Given the description of an element on the screen output the (x, y) to click on. 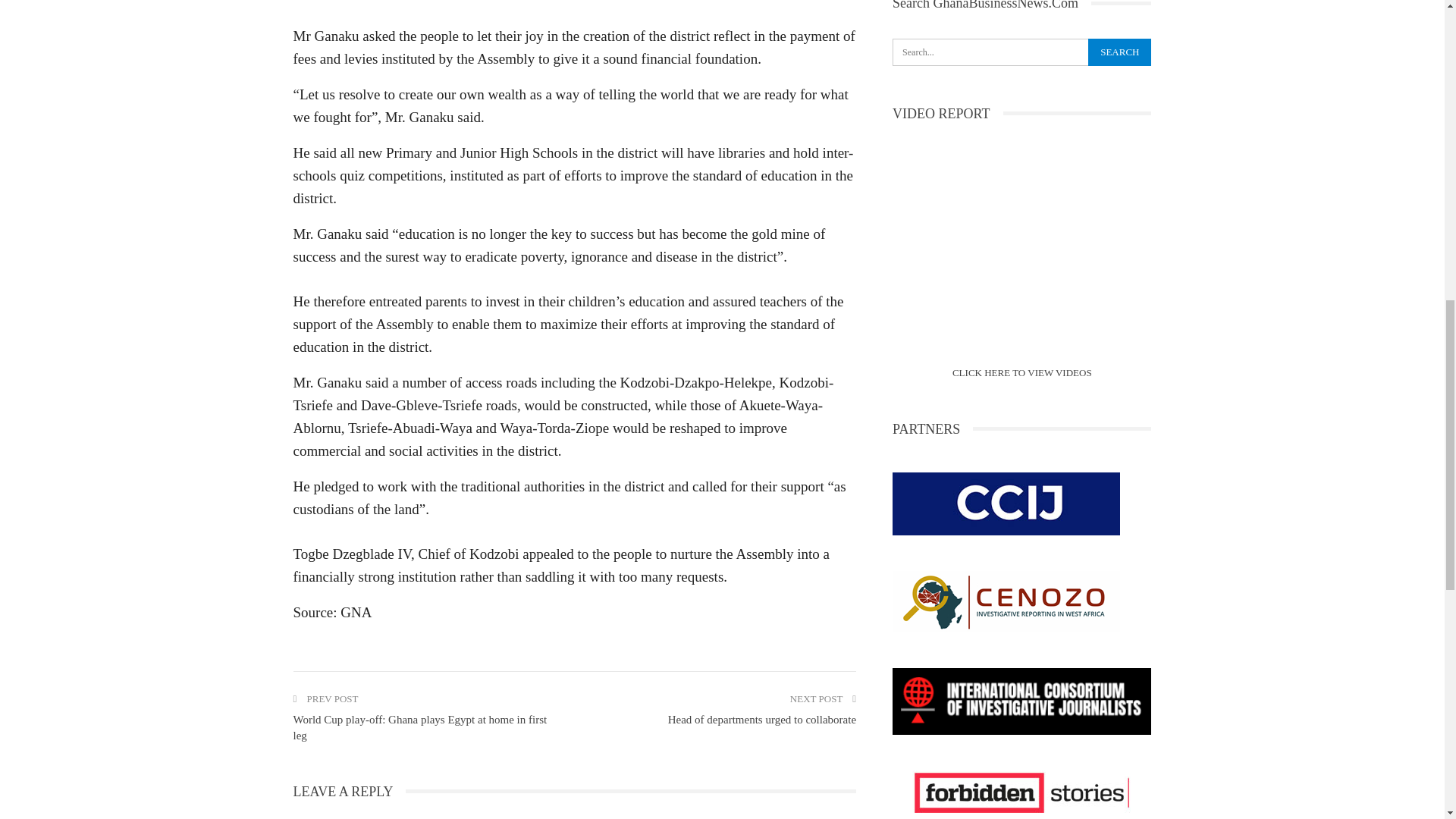
Search (1119, 52)
Head of departments urged to collaborate (762, 719)
Search (1119, 52)
World Cup play-off: Ghana plays Egypt at home in first leg (419, 727)
Advertisement (574, 7)
